Given the description of an element on the screen output the (x, y) to click on. 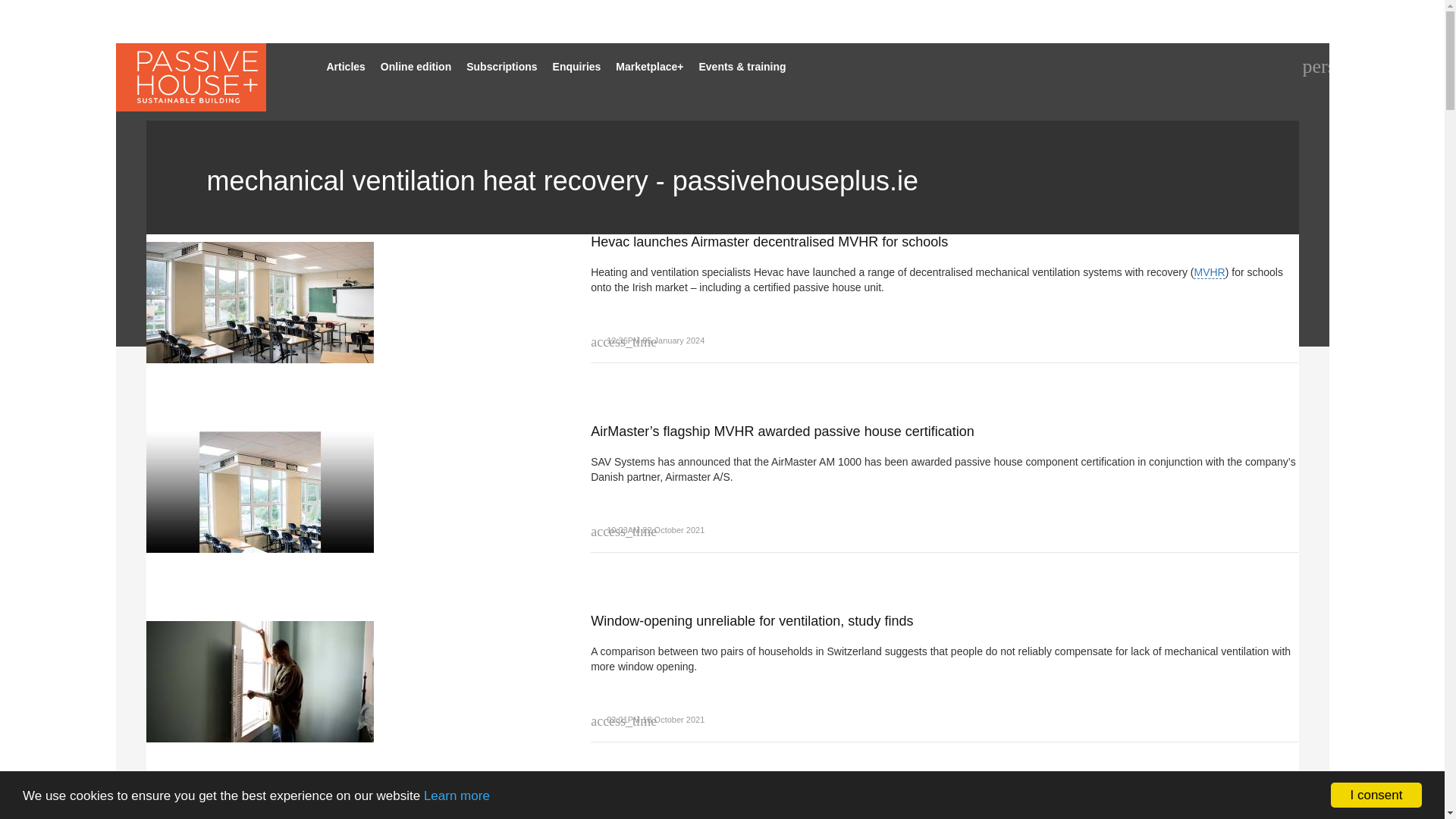
Window-opening unreliable for ventilation, study finds (337, 677)
Enquiries (576, 66)
Subscriptions (501, 66)
Online edition (415, 66)
Hevac launches Airmaster decentralised MVHR for schools (337, 298)
Articles (345, 66)
MVHR (1208, 272)
